Given the description of an element on the screen output the (x, y) to click on. 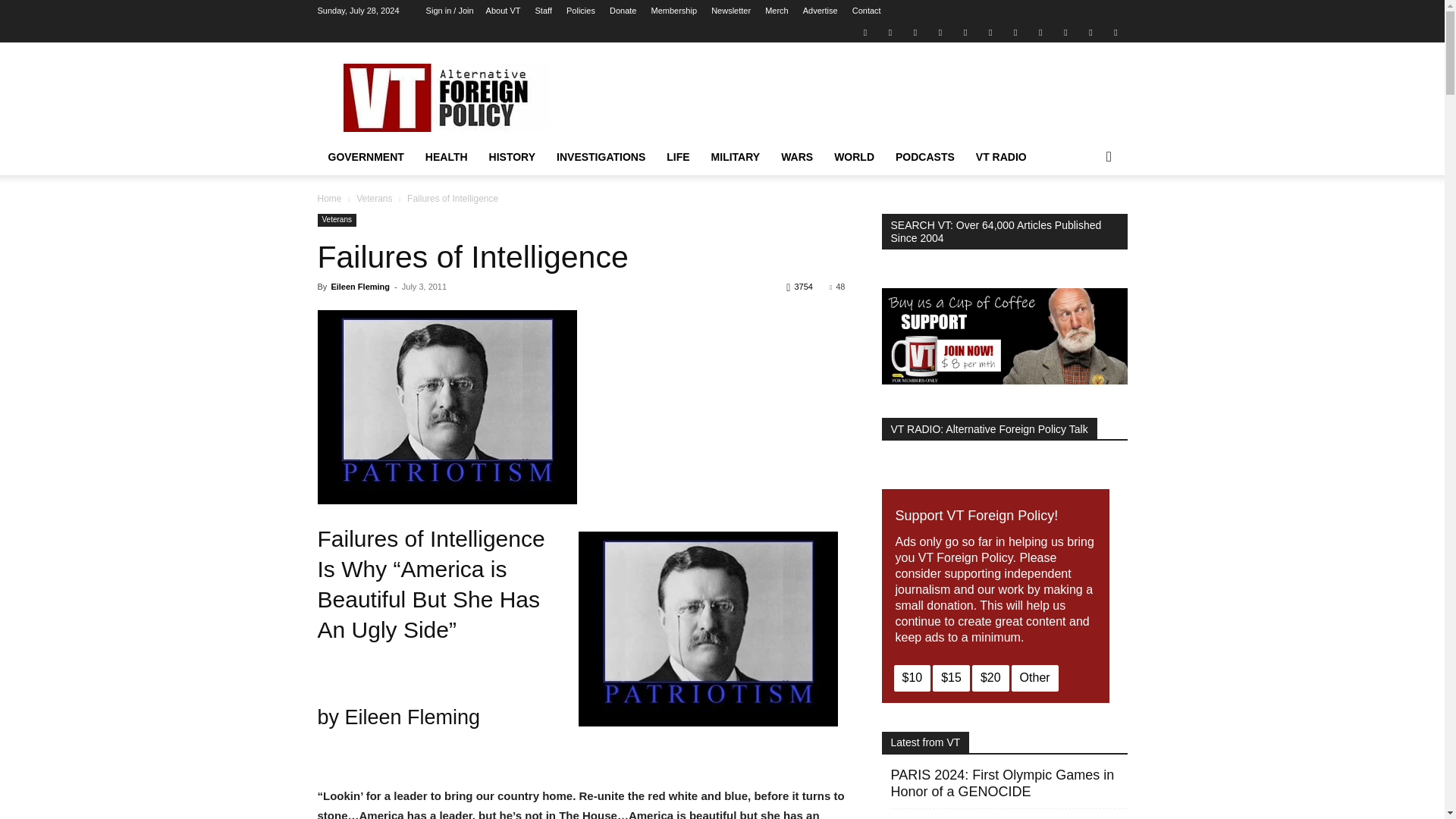
Membership (673, 10)
Mail (915, 31)
Newsletter (731, 10)
Donate (623, 10)
Staff (543, 10)
Reddit (940, 31)
Advertise (820, 10)
Merch (777, 10)
Rumble (964, 31)
Facebook (890, 31)
About VT (503, 10)
Contact (865, 10)
Blogger (864, 31)
Policies (580, 10)
